Given the description of an element on the screen output the (x, y) to click on. 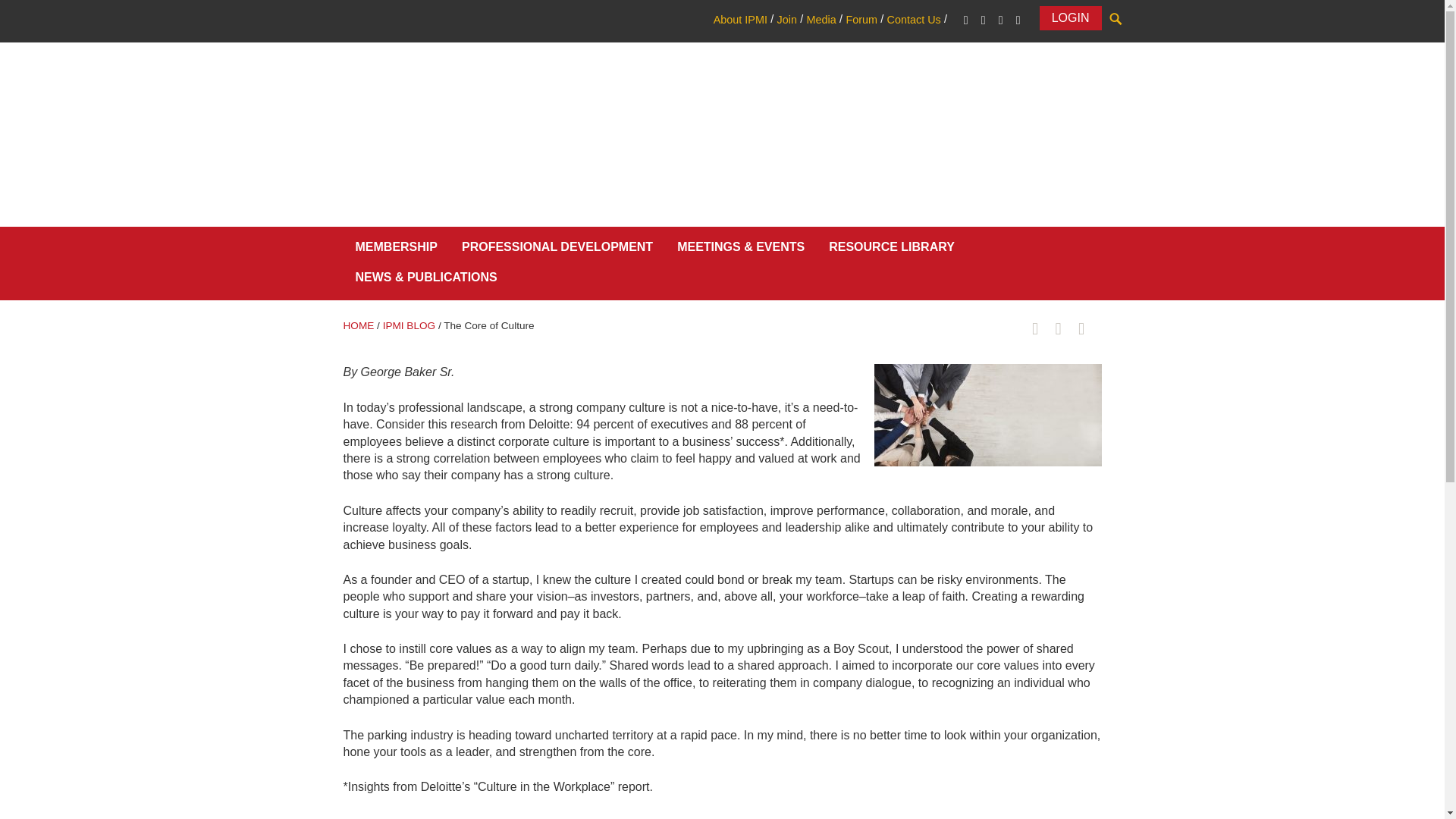
PROFESSIONAL DEVELOPMENT (557, 250)
IPMI (357, 56)
LOGIN (1070, 17)
Forum (861, 19)
MEMBERSHIP (395, 250)
RESOURCE LIBRARY (891, 250)
Go to the IPMI Blog category archives. (408, 325)
About IPMI (740, 19)
Contact Us (913, 19)
Join (786, 19)
Media (821, 19)
youtube (1018, 19)
